Given the description of an element on the screen output the (x, y) to click on. 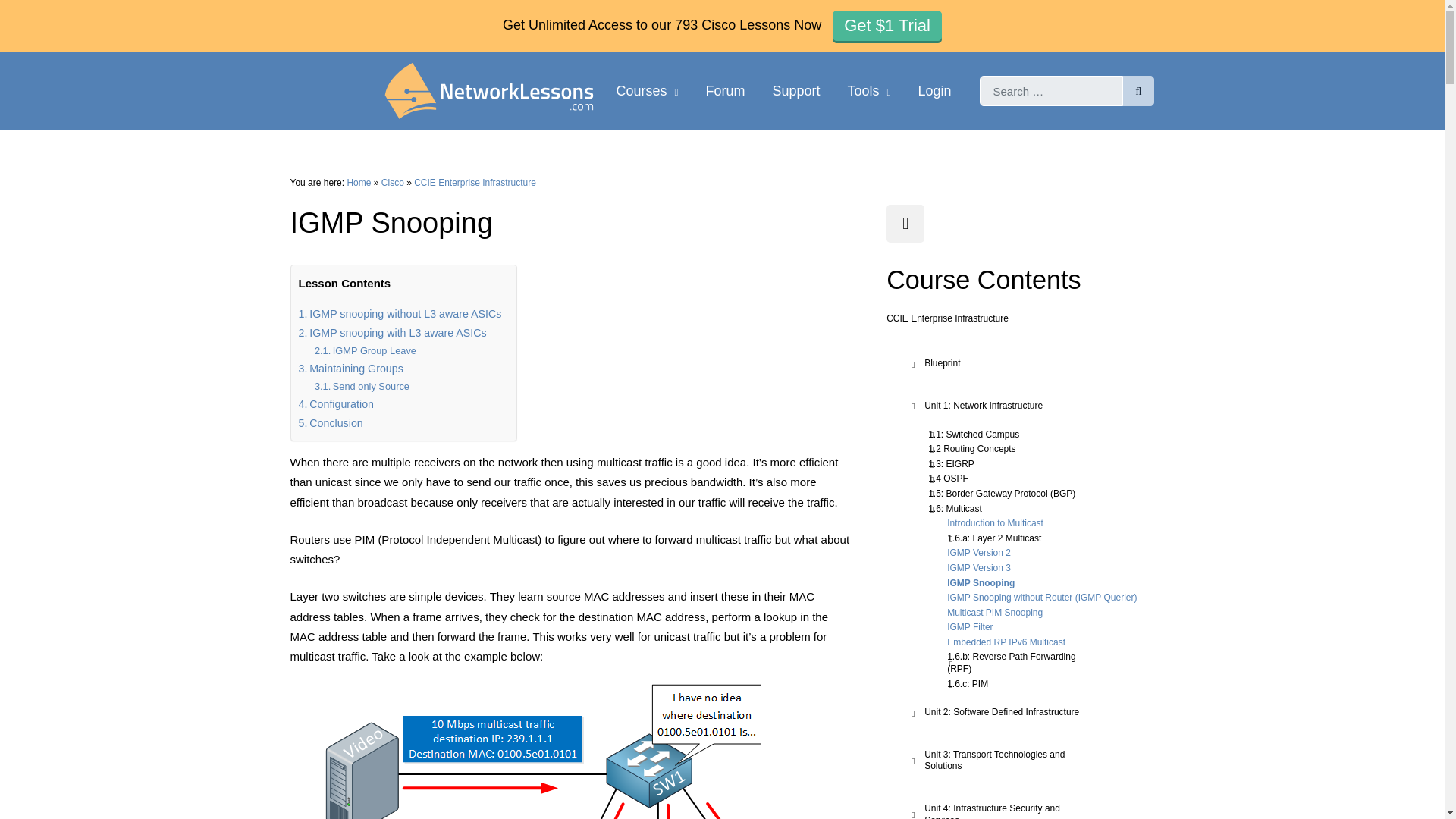
IGMP snooping with L3 aware ASICs (392, 333)
Configuration (336, 404)
Send only Source (361, 386)
IGMP Group Leave (365, 351)
Courses (646, 90)
IGMP snooping without L3 aware ASICs (400, 313)
Maintaining Groups (350, 368)
Conclusion (330, 423)
